Given the description of an element on the screen output the (x, y) to click on. 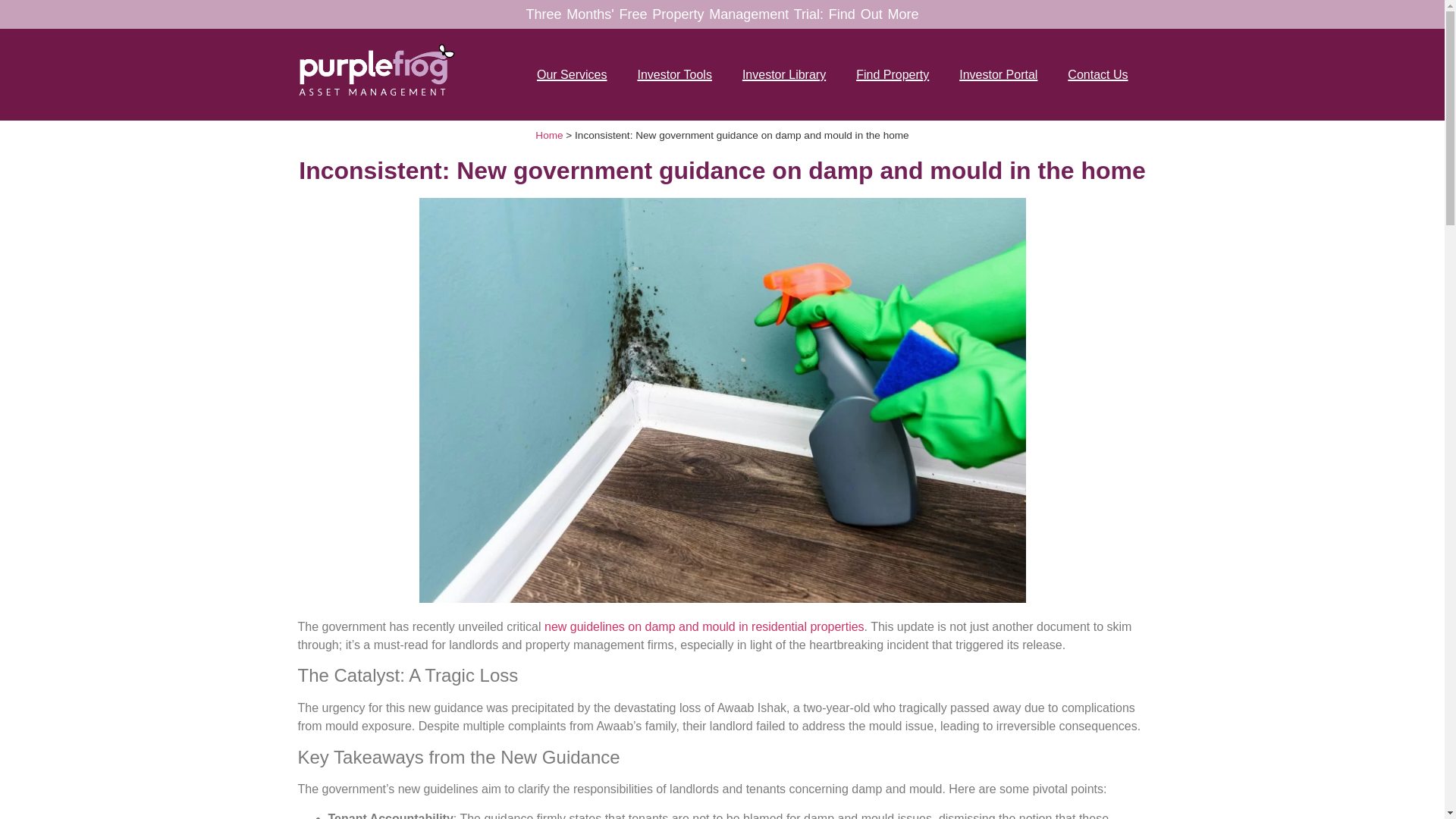
Investor Tools (678, 74)
Investor Library (787, 74)
Three Months' Free Property Management Trial: Find Out More (721, 14)
Our Services (575, 74)
